Given the description of an element on the screen output the (x, y) to click on. 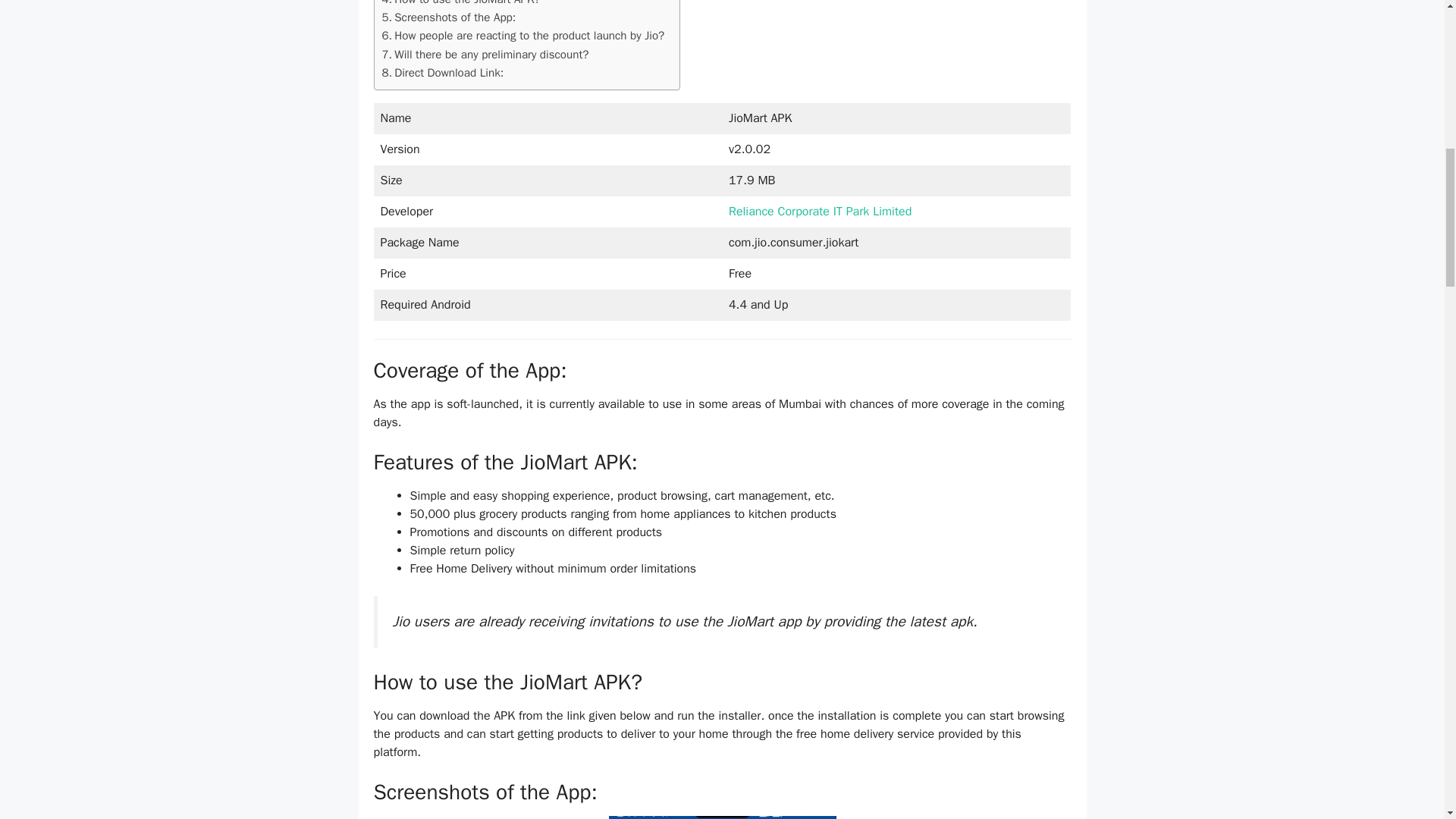
How people are reacting to the product launch by Jio? (523, 35)
Direct Download Link: (442, 72)
How to use the JioMart APK? (460, 4)
Direct Download Link: (442, 72)
Screenshots of the App: (448, 17)
Will there be any preliminary discount? (485, 54)
Reliance Corporate IT Park Limited (820, 211)
How to use the JioMart APK? (460, 4)
Will there be any preliminary discount? (485, 54)
Screenshots of the App: (448, 17)
How people are reacting to the product launch by Jio? (523, 35)
